Given the description of an element on the screen output the (x, y) to click on. 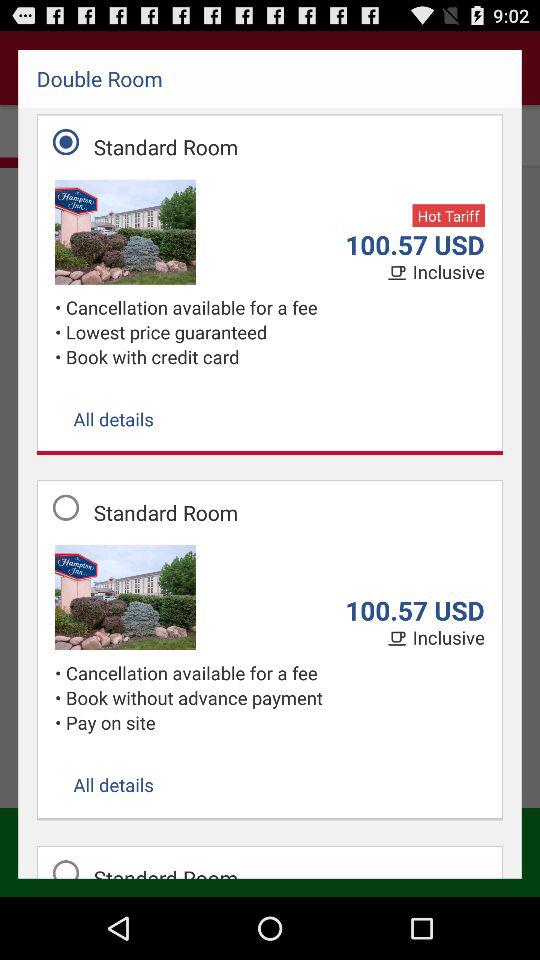
turn on icon to the left of inclusive item (399, 273)
